Given the description of an element on the screen output the (x, y) to click on. 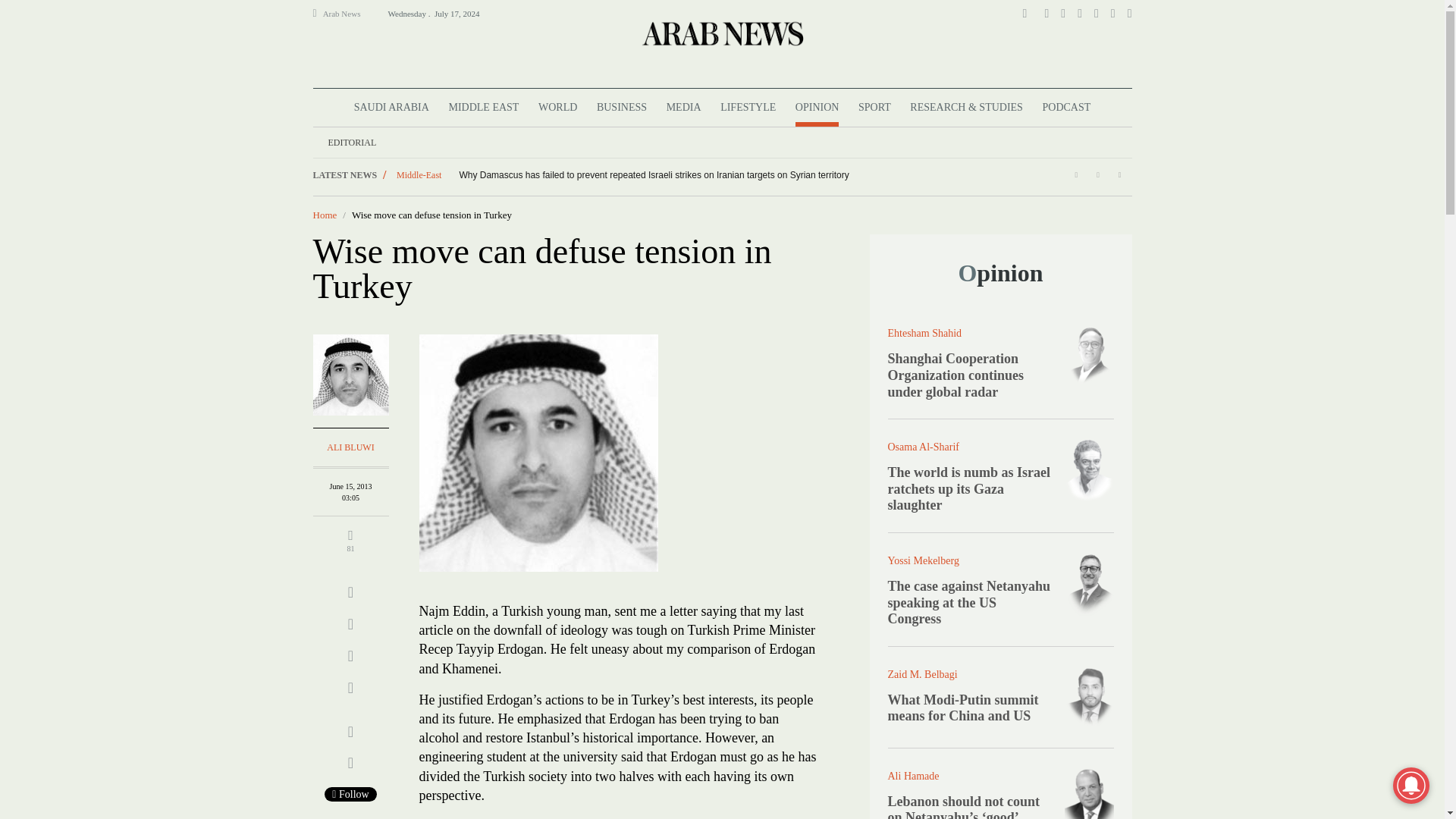
Zaid M. Belbagi (1088, 697)
Yossi Mekelberg (1088, 583)
Wise move can defuse tension in Turkey (538, 452)
Ehtesham Shahid (1088, 355)
Arabnews (721, 33)
Osama Al-Sharif (1088, 469)
Arab News (348, 13)
Ali Hamade (1088, 792)
